Given the description of an element on the screen output the (x, y) to click on. 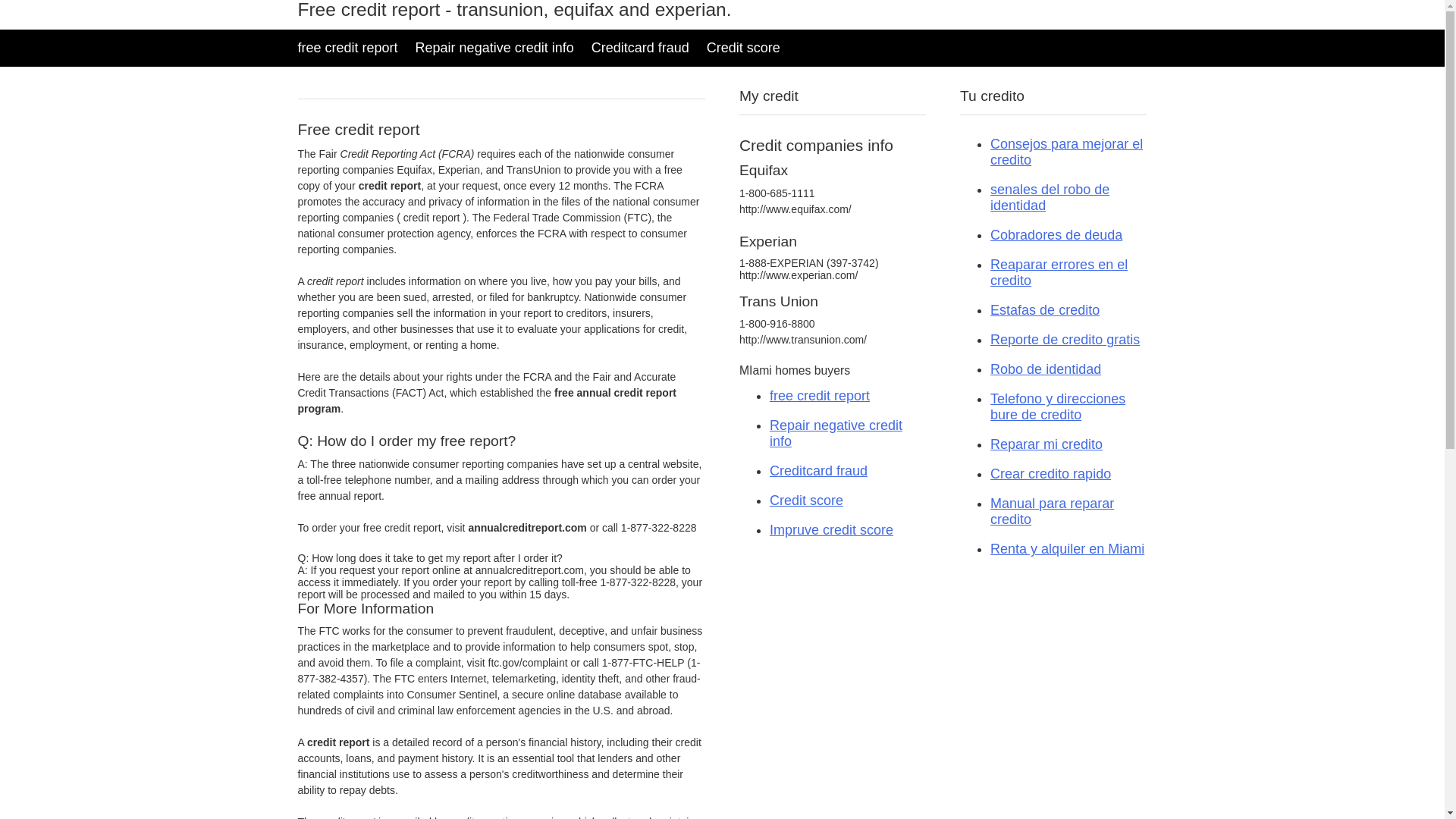
Renta y alquiler en Miami Element type: text (1067, 548)
free credit report Element type: text (347, 47)
Crear credito rapido Element type: text (1050, 473)
Creditcard fraud Element type: text (818, 470)
Credit score Element type: text (743, 47)
Impruve credit score Element type: text (831, 529)
Manual para reparar credito Element type: text (1051, 511)
Creditcard fraud Element type: text (642, 47)
Telefono y direcciones bure de credito Element type: text (1057, 406)
free credit report Element type: text (819, 395)
Cobradores de deuda Element type: text (1056, 234)
Reporte de credito gratis Element type: text (1064, 339)
Consejos para mejorar el credito Element type: text (1066, 151)
Repair negative credit info Element type: text (835, 432)
Repair negative credit info Element type: text (494, 47)
Reaparar errores en el credito Element type: text (1058, 272)
senales del robo de identidad Element type: text (1049, 197)
Reparar mi credito Element type: text (1046, 443)
Estafas de credito Element type: text (1044, 309)
Robo de identidad Element type: text (1045, 368)
Credit score Element type: text (806, 500)
